Given the description of an element on the screen output the (x, y) to click on. 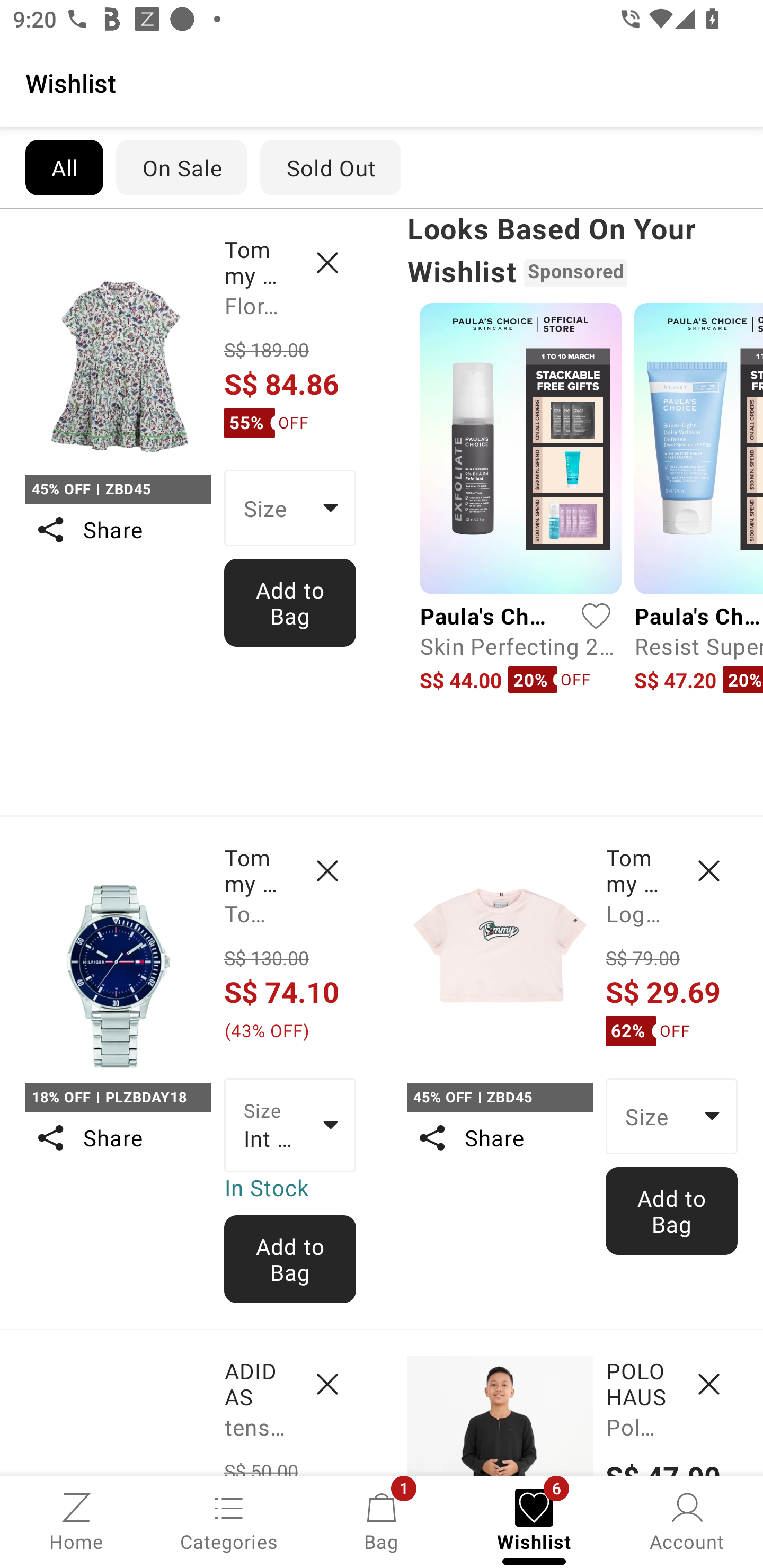
Wishlist (381, 82)
All (64, 167)
On Sale (181, 167)
Sold Out (330, 167)
Size (290, 507)
Share (118, 529)
Add to Bag (290, 602)
Size Int One Size (290, 1125)
Size (671, 1116)
Share (118, 1137)
Share (499, 1137)
Add to Bag (671, 1210)
Add to Bag (290, 1259)
Home (76, 1519)
Categories (228, 1519)
Bag, 1 new notification Bag (381, 1519)
Account (686, 1519)
